Given the description of an element on the screen output the (x, y) to click on. 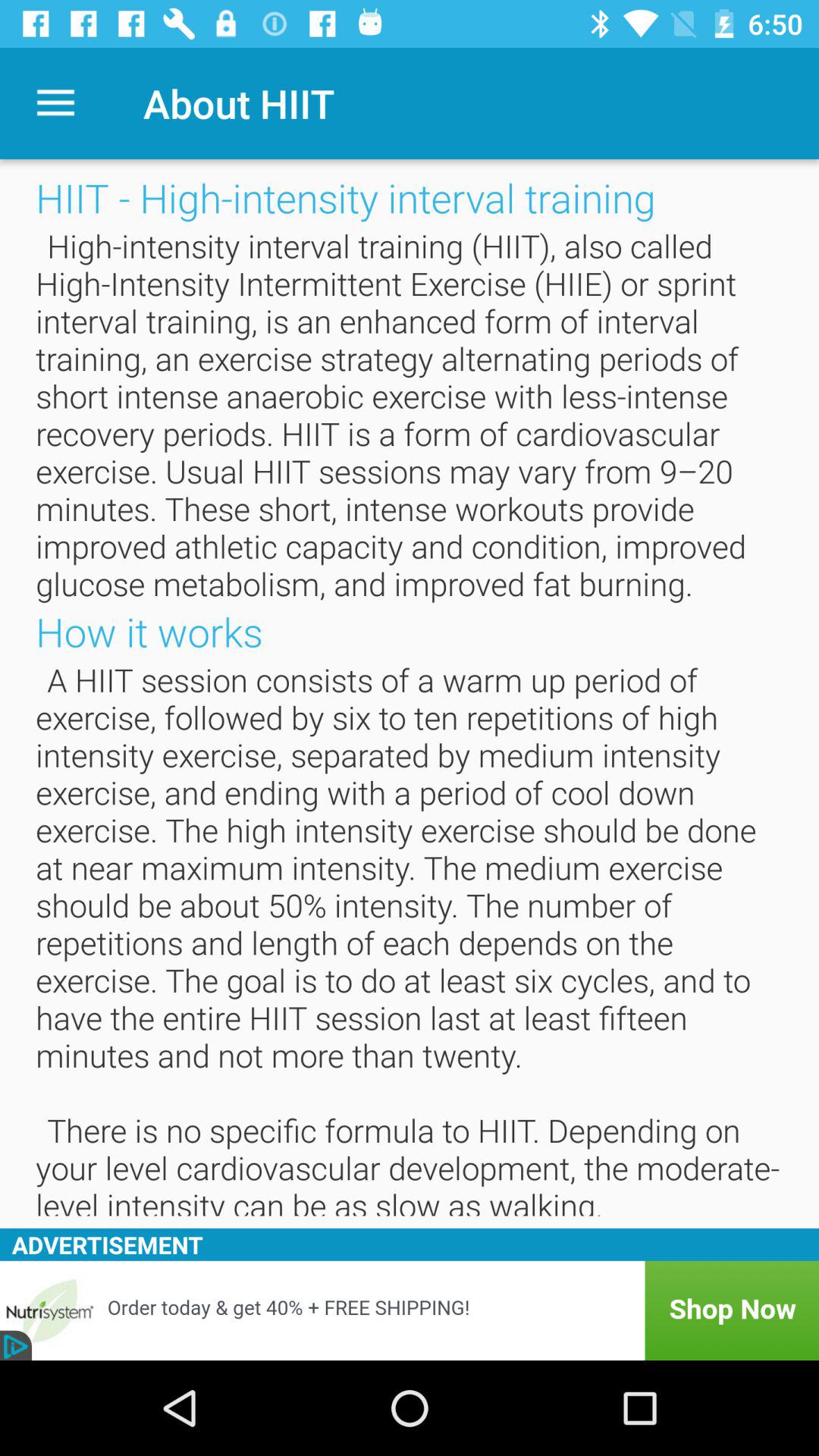
advertisement (409, 1310)
